Given the description of an element on the screen output the (x, y) to click on. 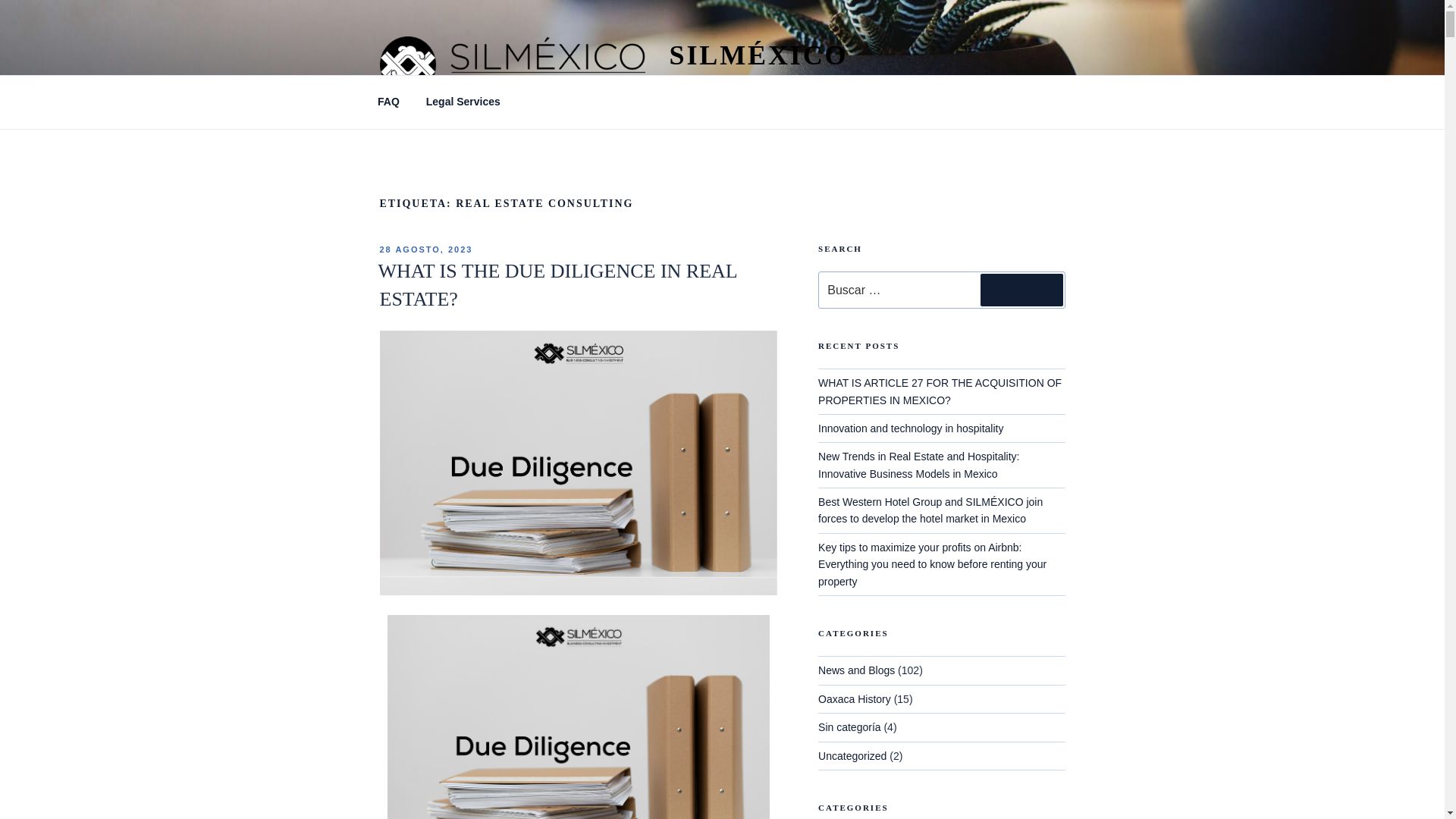
28 AGOSTO, 2023 (424, 248)
Legal Services (462, 101)
WHAT IS THE DUE DILIGENCE IN REAL ESTATE? (556, 284)
FAQ (388, 101)
